Given the description of an element on the screen output the (x, y) to click on. 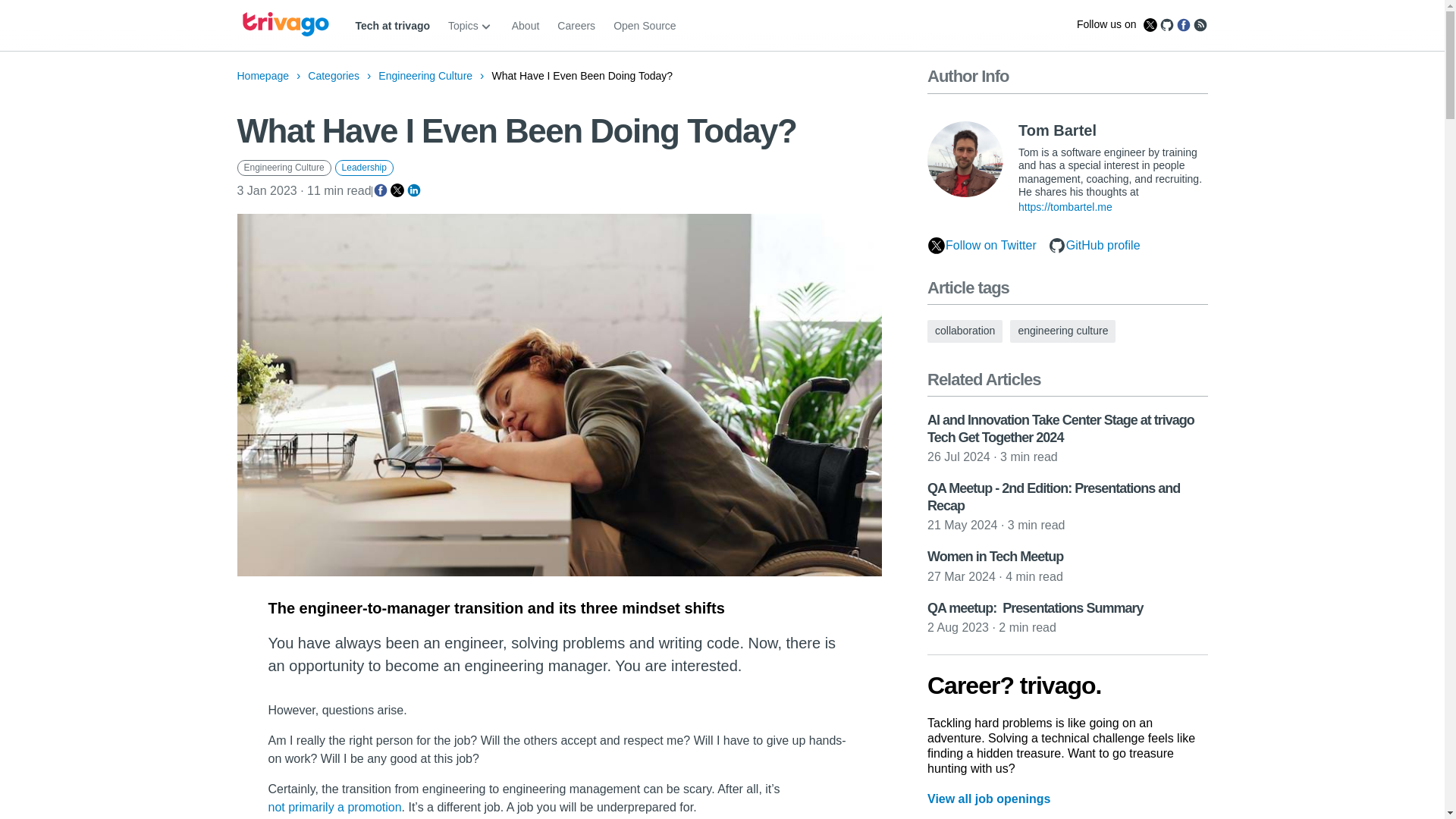
Careers (576, 26)
Share this post on LinkedIn (414, 190)
About (526, 26)
Follow Tom Bartel on Twitter (980, 247)
Categories (333, 76)
Leadership (363, 166)
View all job openings (987, 798)
Follow us on Facebook (1182, 24)
Tech at trivago (392, 26)
Follow us on Twitter (1149, 24)
